Given the description of an element on the screen output the (x, y) to click on. 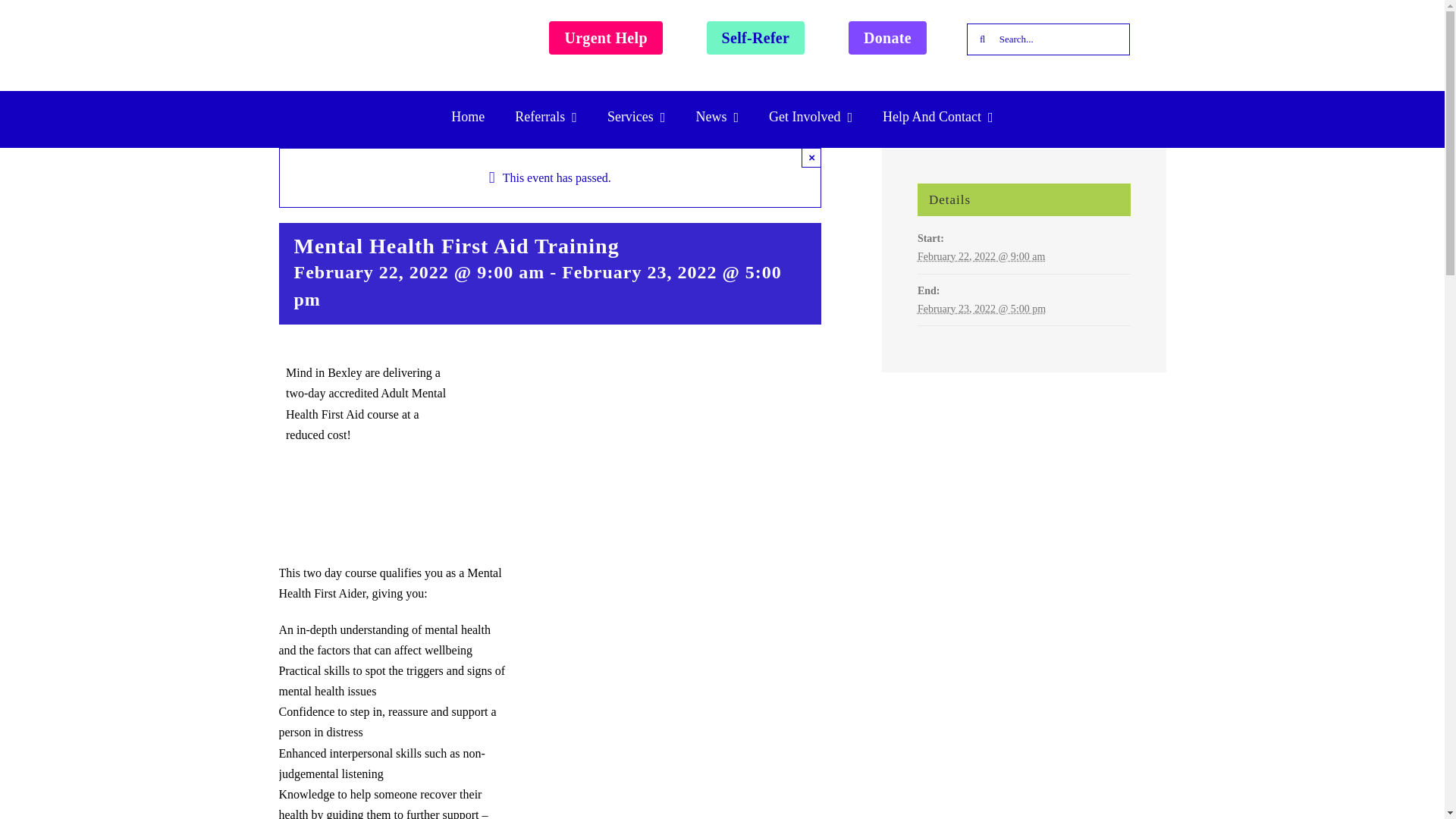
Urgent Help (605, 37)
Referrals (545, 117)
Self-Refer (755, 37)
Donate (887, 37)
Home (467, 117)
MHFA-important (368, 503)
Services (636, 117)
2022-02-23 (981, 308)
2022-02-22 (981, 256)
